Given the description of an element on the screen output the (x, y) to click on. 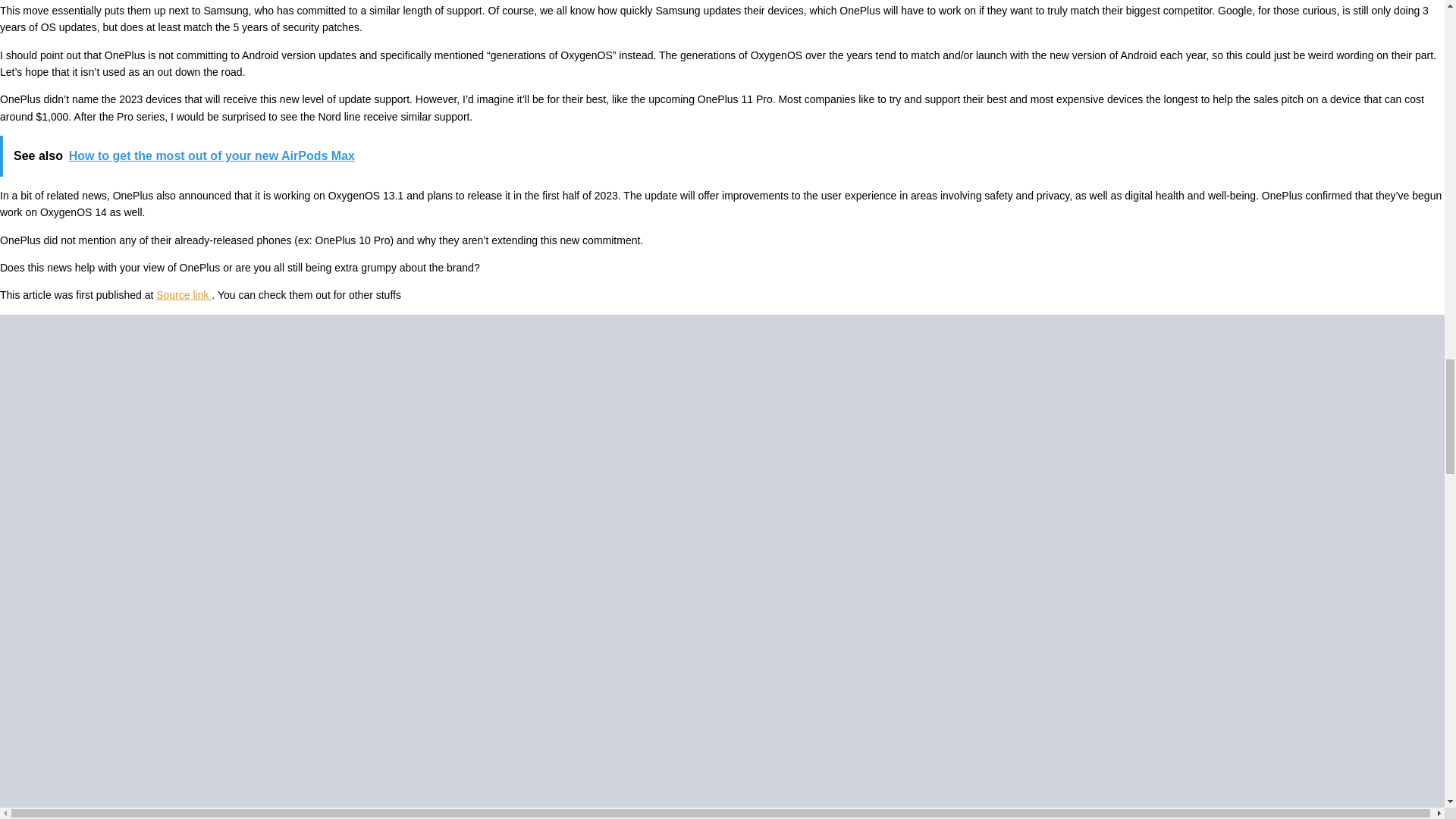
Source link (183, 295)
